Given the description of an element on the screen output the (x, y) to click on. 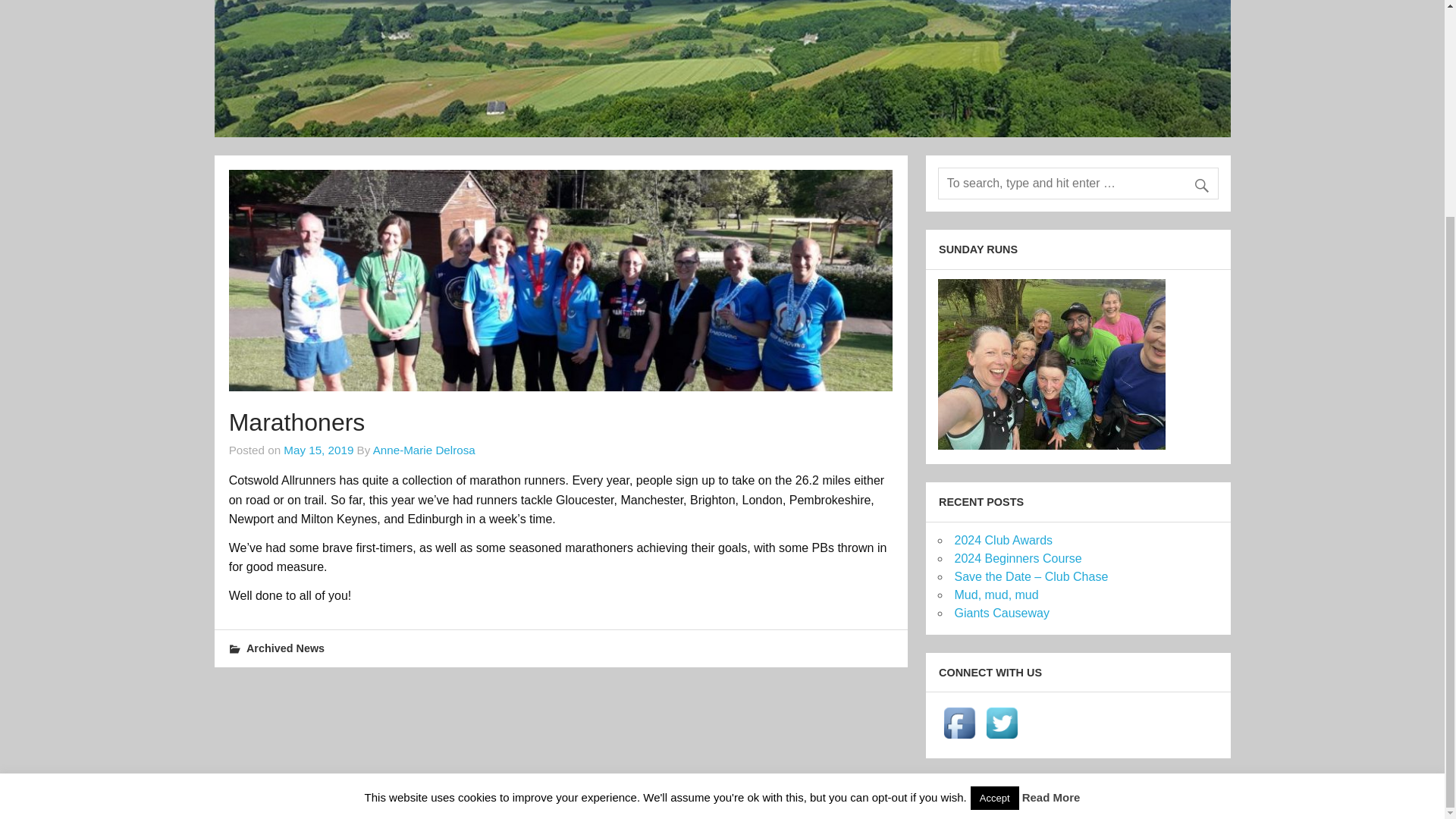
Visit Us On Twitter (1000, 739)
Momentous WordPress Theme (1195, 797)
WordPress (1107, 797)
View all posts by Anne-Marie Delrosa (424, 449)
5:59 pm (318, 449)
May 15, 2019 (318, 449)
Visit Us On Facebook (958, 739)
